Given the description of an element on the screen output the (x, y) to click on. 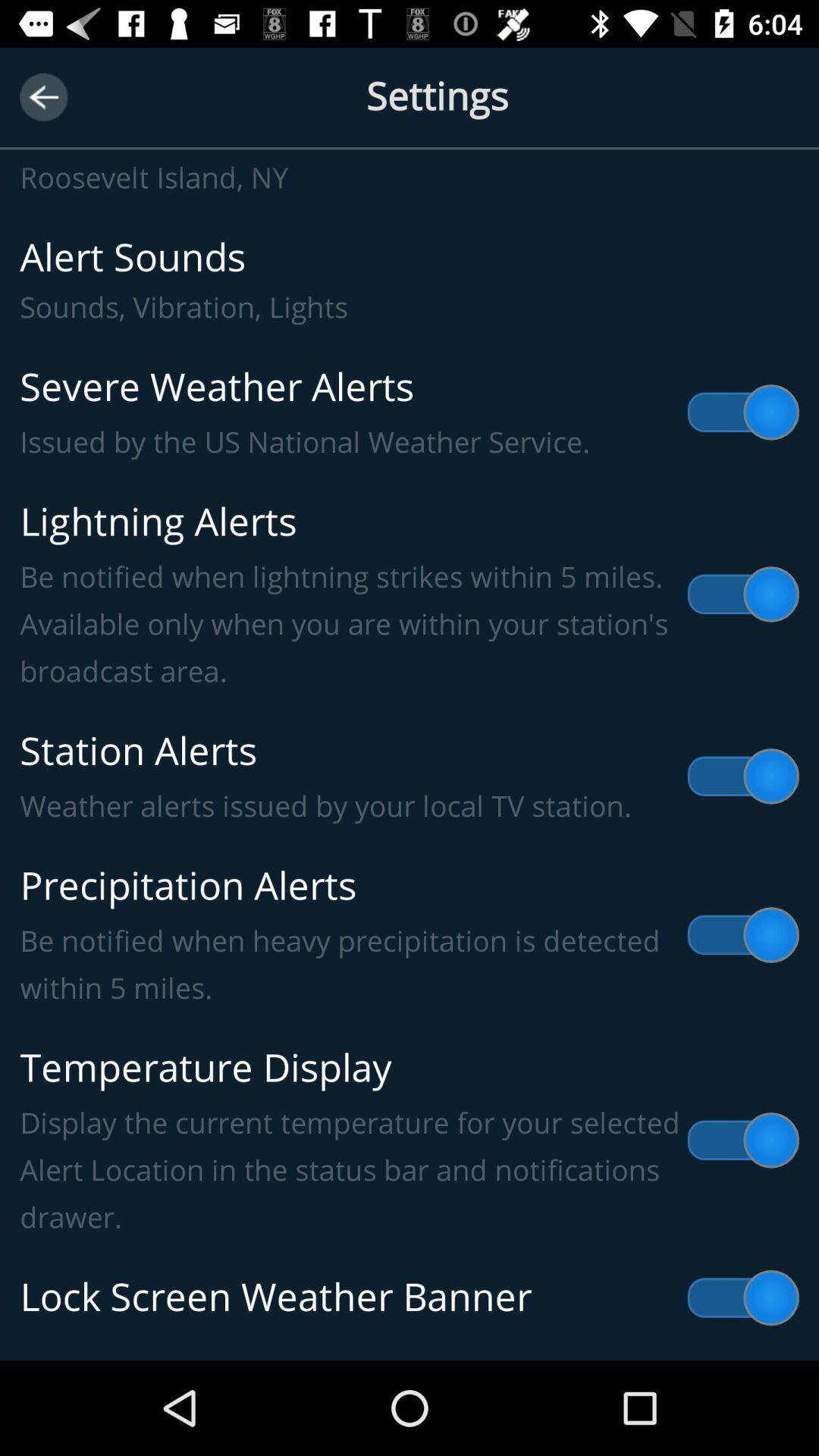
press item below precipitation alerts be item (409, 1140)
